Given the description of an element on the screen output the (x, y) to click on. 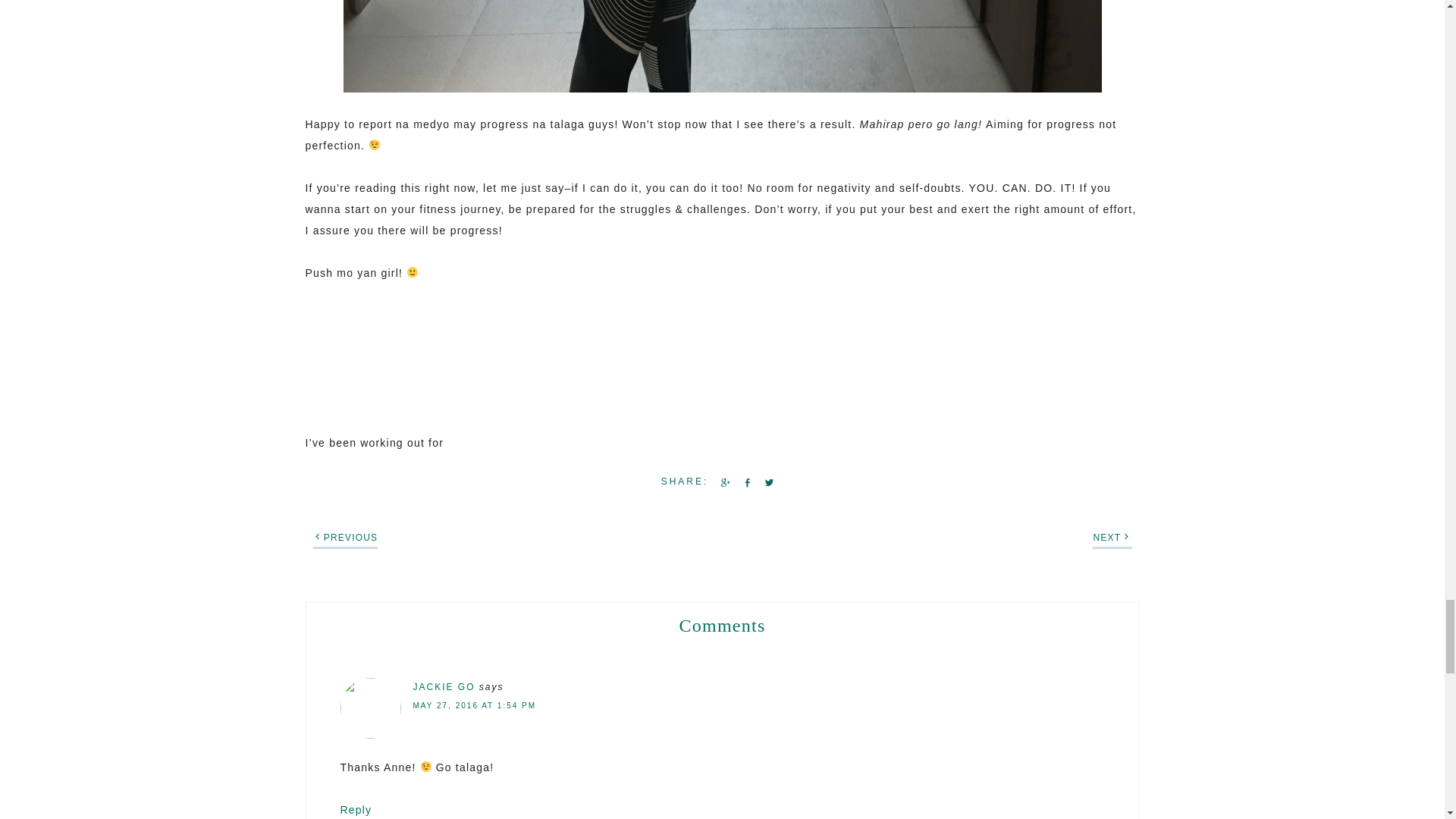
Tweet (766, 482)
PREVIOUS (350, 537)
Share (744, 482)
JACKIE GO (443, 686)
Reply (355, 809)
Share (722, 482)
NEXT (1107, 537)
MAY 27, 2016 AT 1:54 PM (473, 705)
